Given the description of an element on the screen output the (x, y) to click on. 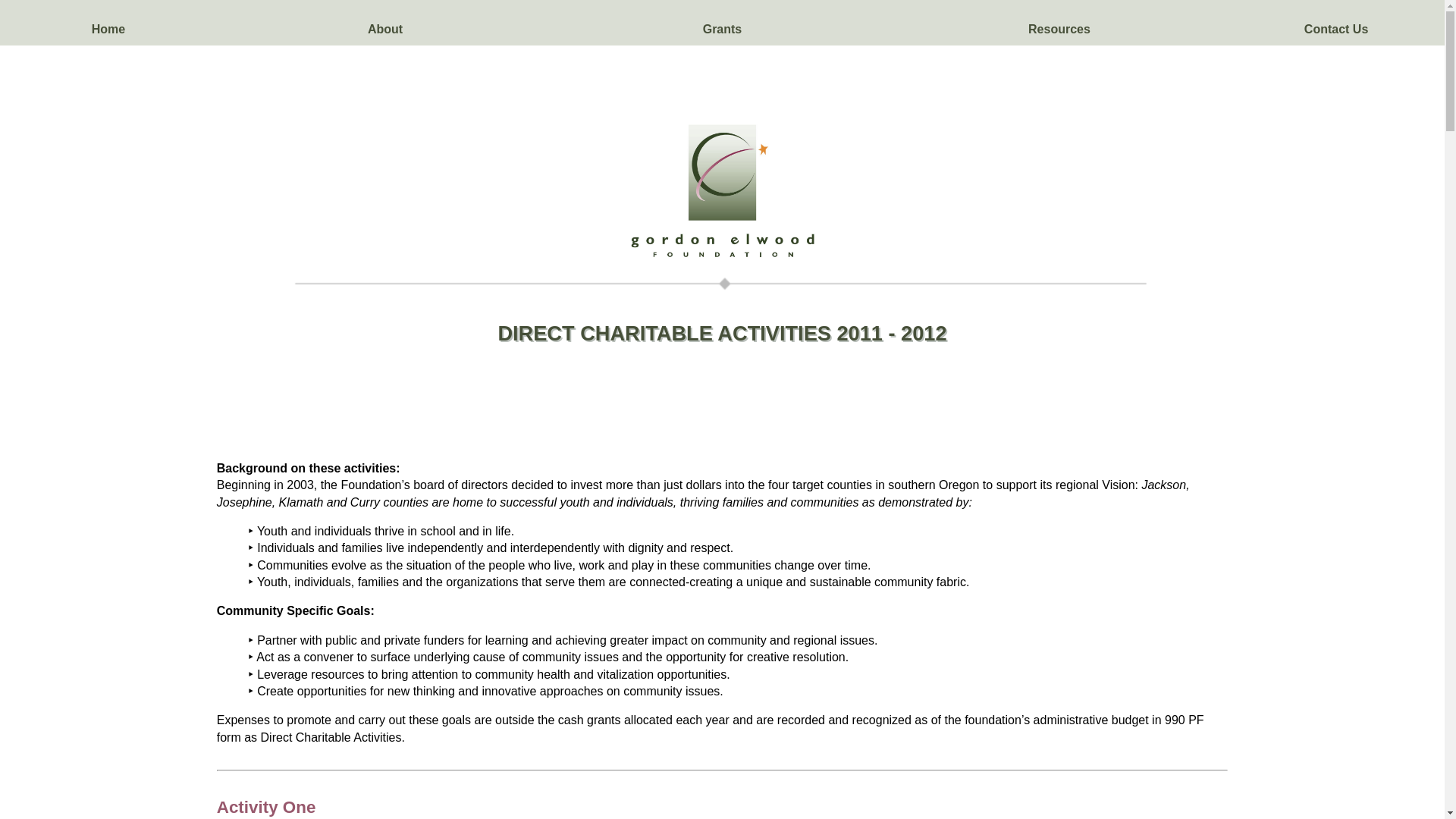
Resources (1059, 22)
Grants (721, 22)
Home (108, 22)
About (384, 22)
